Given the description of an element on the screen output the (x, y) to click on. 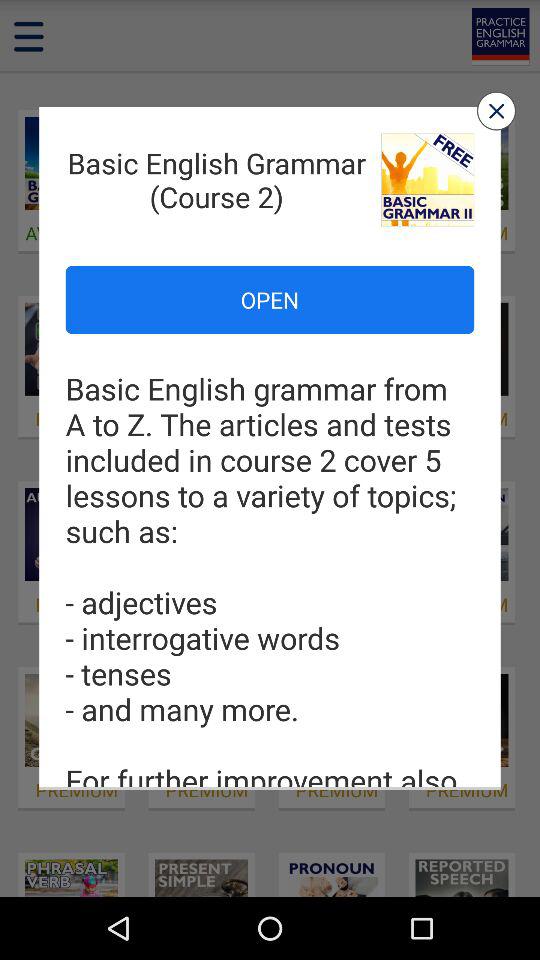
close out (496, 110)
